Given the description of an element on the screen output the (x, y) to click on. 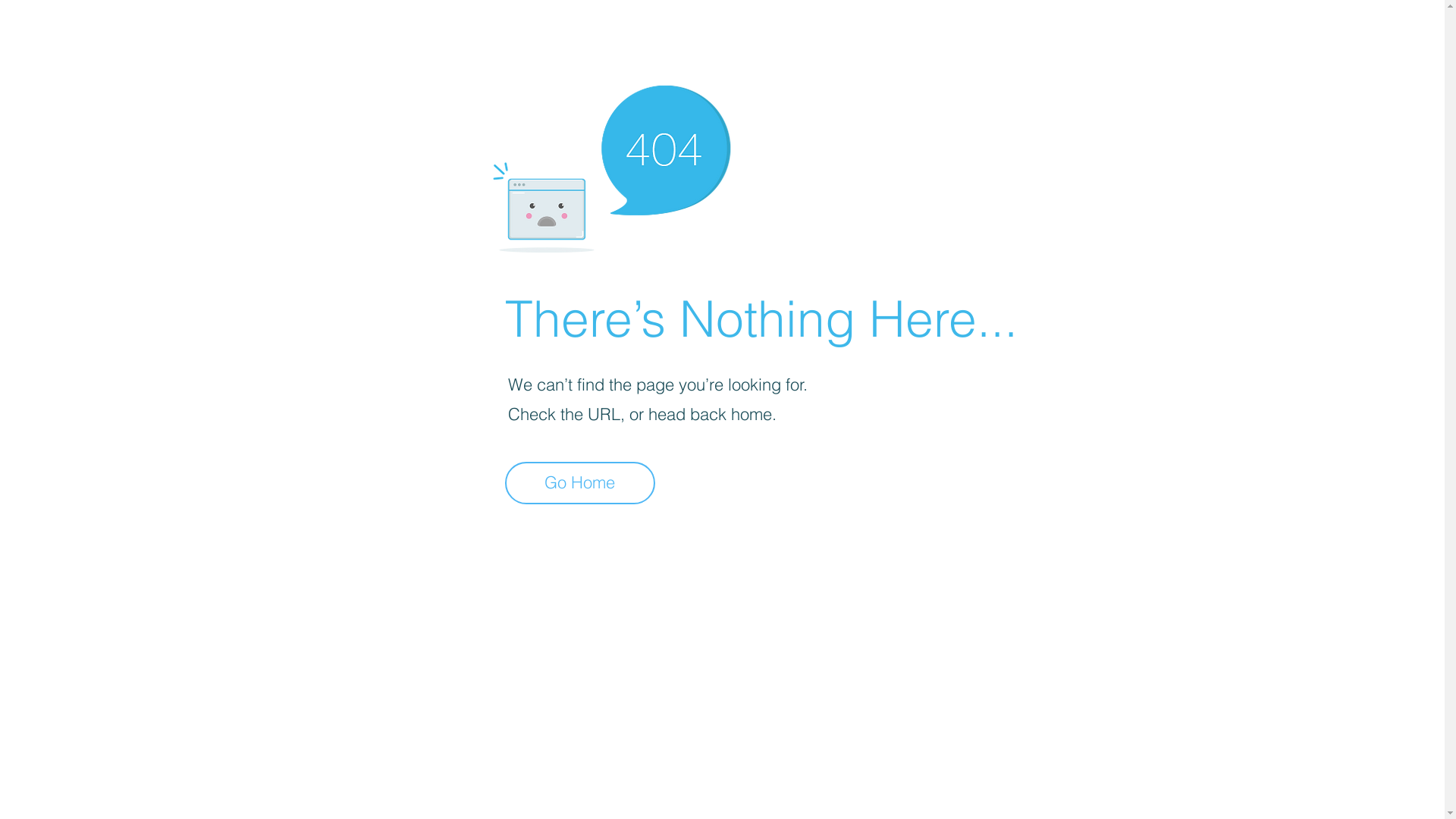
Go Home Element type: text (580, 482)
404-icon_2.png Element type: hover (610, 164)
